Given the description of an element on the screen output the (x, y) to click on. 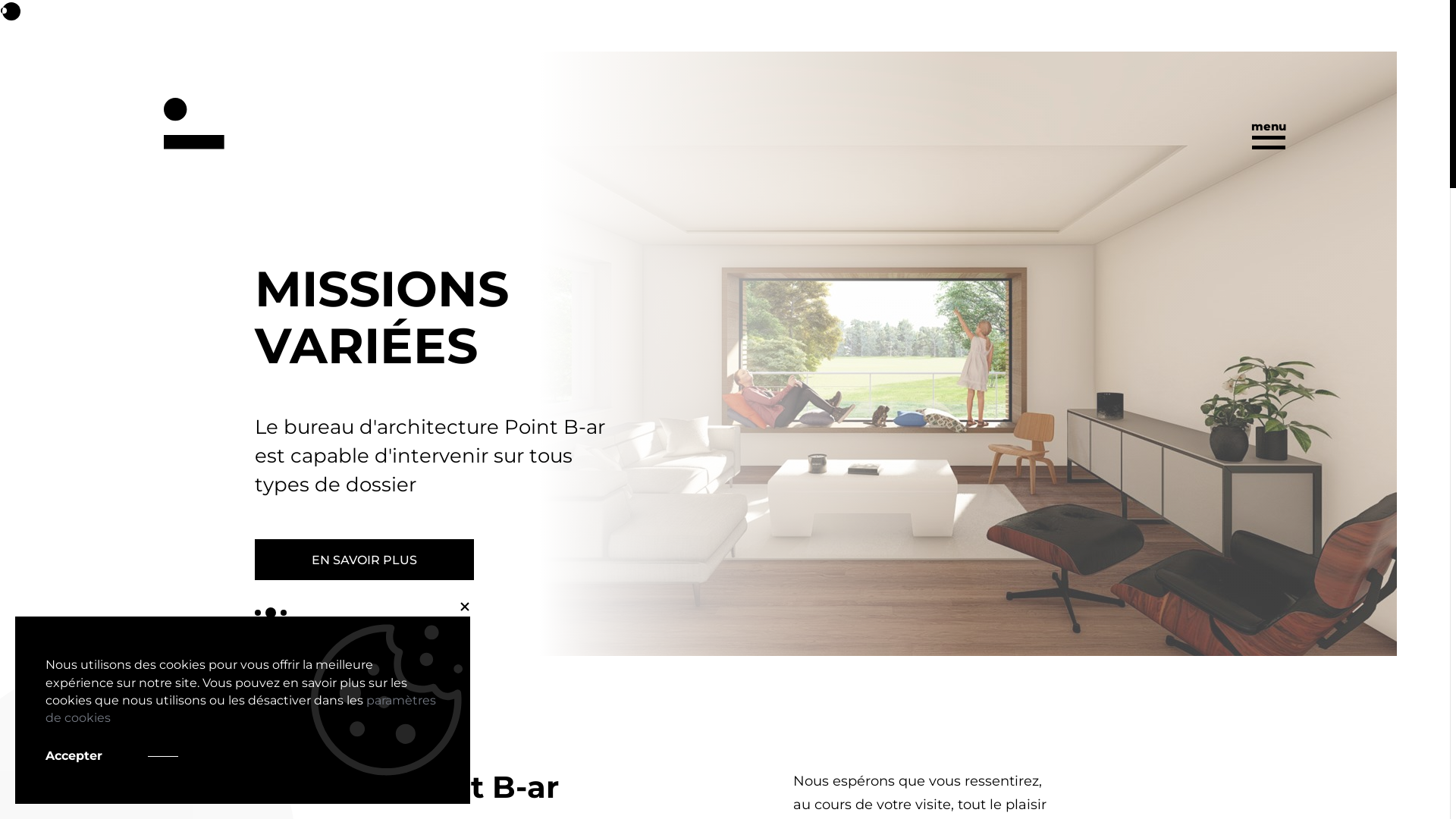
Accepter Element type: text (111, 755)
EN SAVOIR PLUS Element type: text (363, 559)
menu Element type: text (1268, 132)
3 Element type: text (283, 612)
2 Element type: text (270, 612)
1 Element type: text (257, 612)
